Given the description of an element on the screen output the (x, y) to click on. 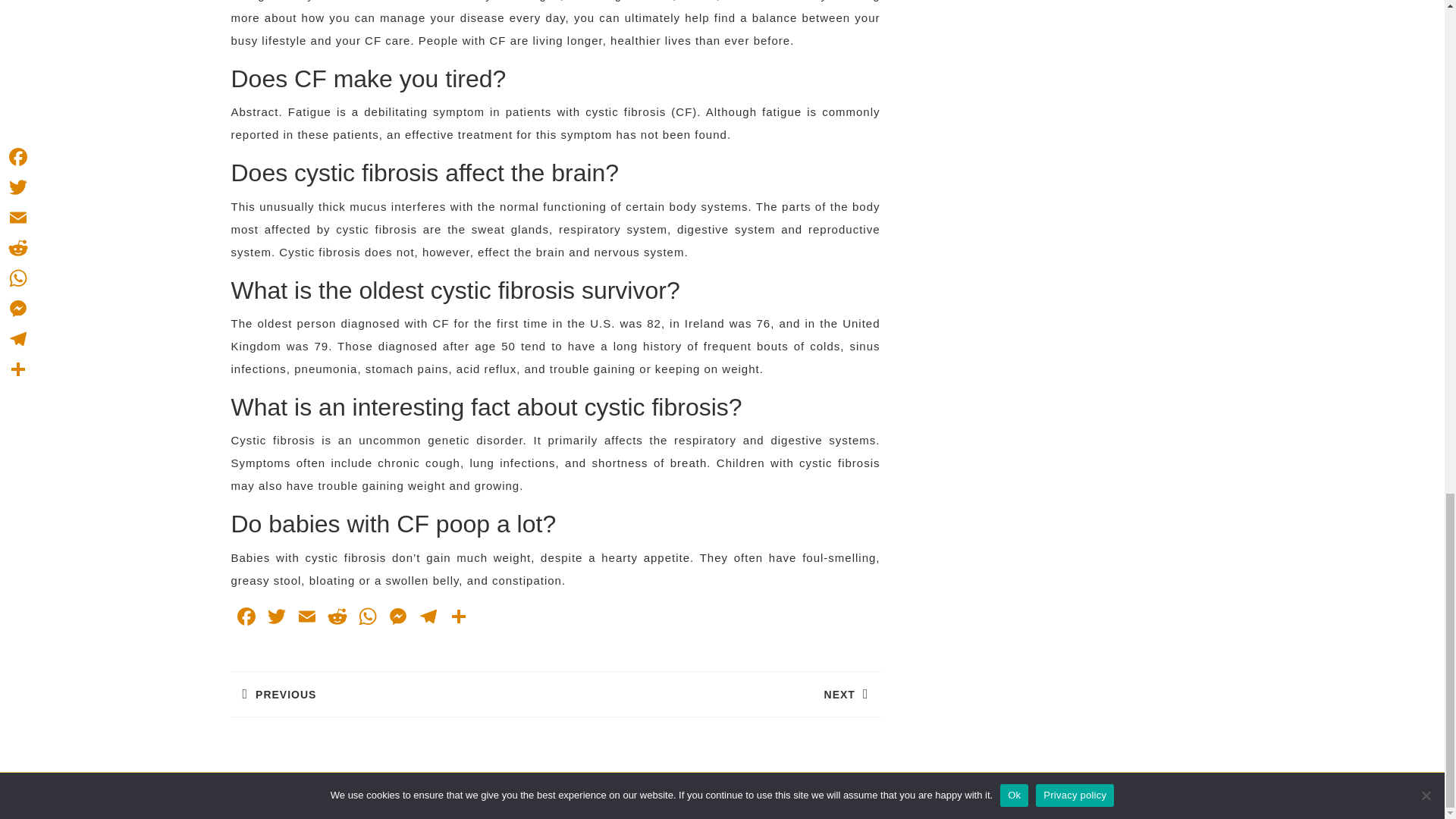
Messenger (396, 618)
WhatsApp (366, 618)
Messenger (396, 618)
Facebook (245, 618)
Email (392, 693)
Twitter (306, 618)
Writer WordPress Theme (275, 618)
Telegram (307, 791)
Telegram (427, 618)
WhatsApp (427, 618)
Facebook (366, 618)
Share (245, 618)
Twitter (457, 618)
Reddit (275, 618)
